Given the description of an element on the screen output the (x, y) to click on. 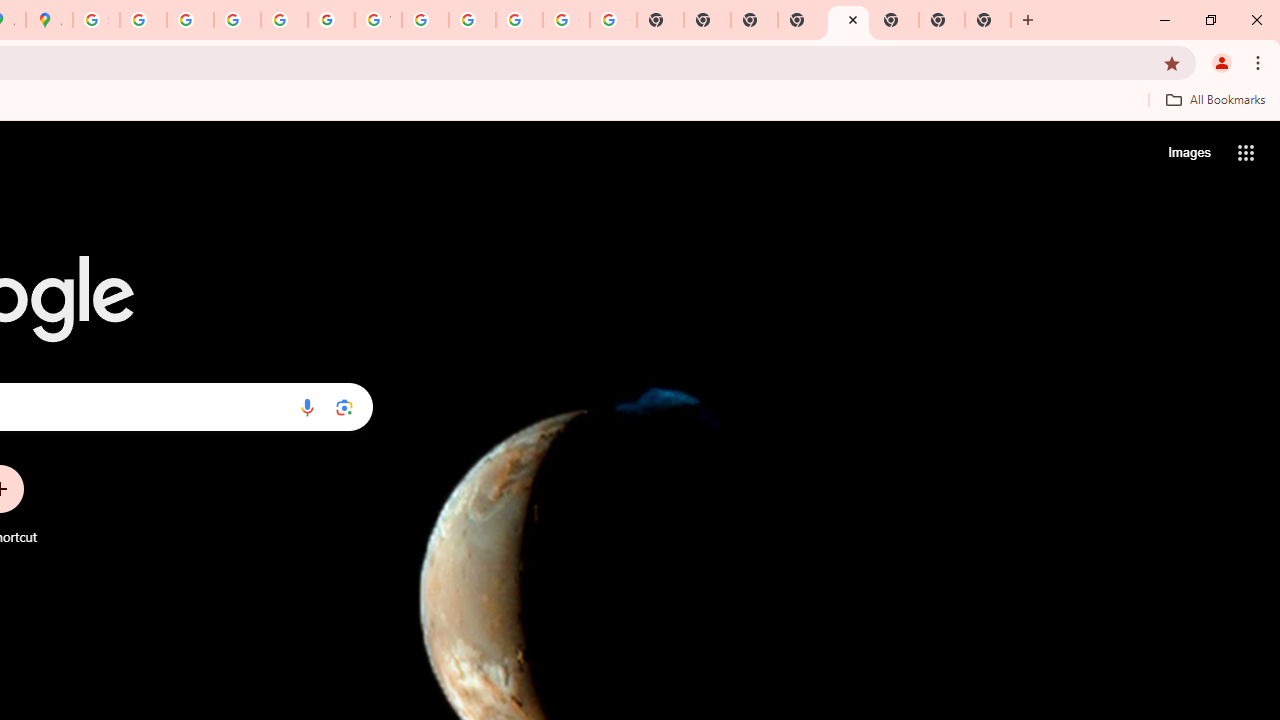
New Tab (988, 20)
New Tab (848, 20)
Privacy Help Center - Policies Help (189, 20)
YouTube (377, 20)
